Given the description of an element on the screen output the (x, y) to click on. 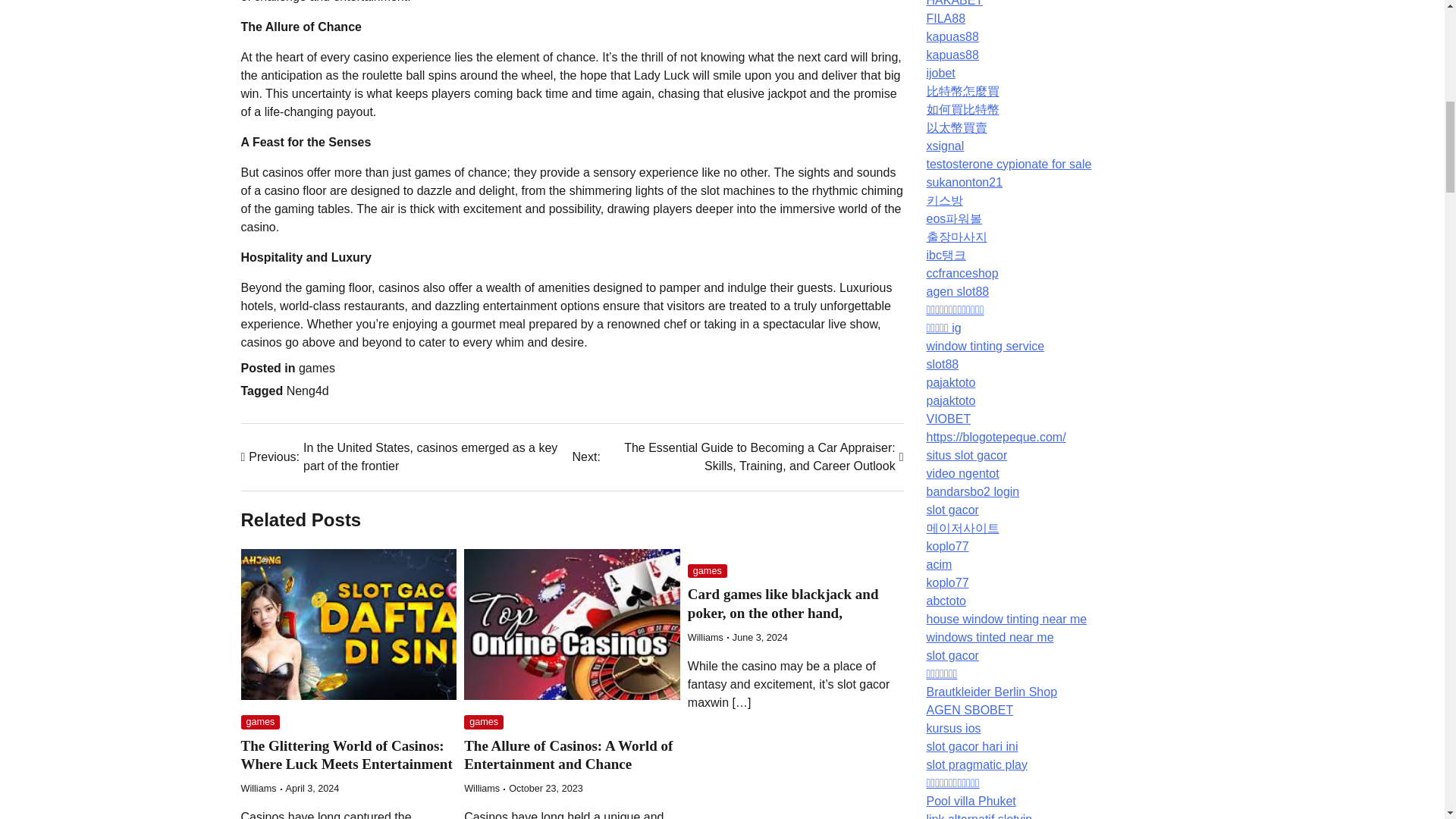
Williams (258, 787)
games (483, 721)
Card games like blackjack and poker, on the other hand, (783, 603)
The Allure of Casinos: A World of Entertainment and Chance (568, 755)
Williams (481, 787)
games (261, 721)
games (316, 367)
